Given the description of an element on the screen output the (x, y) to click on. 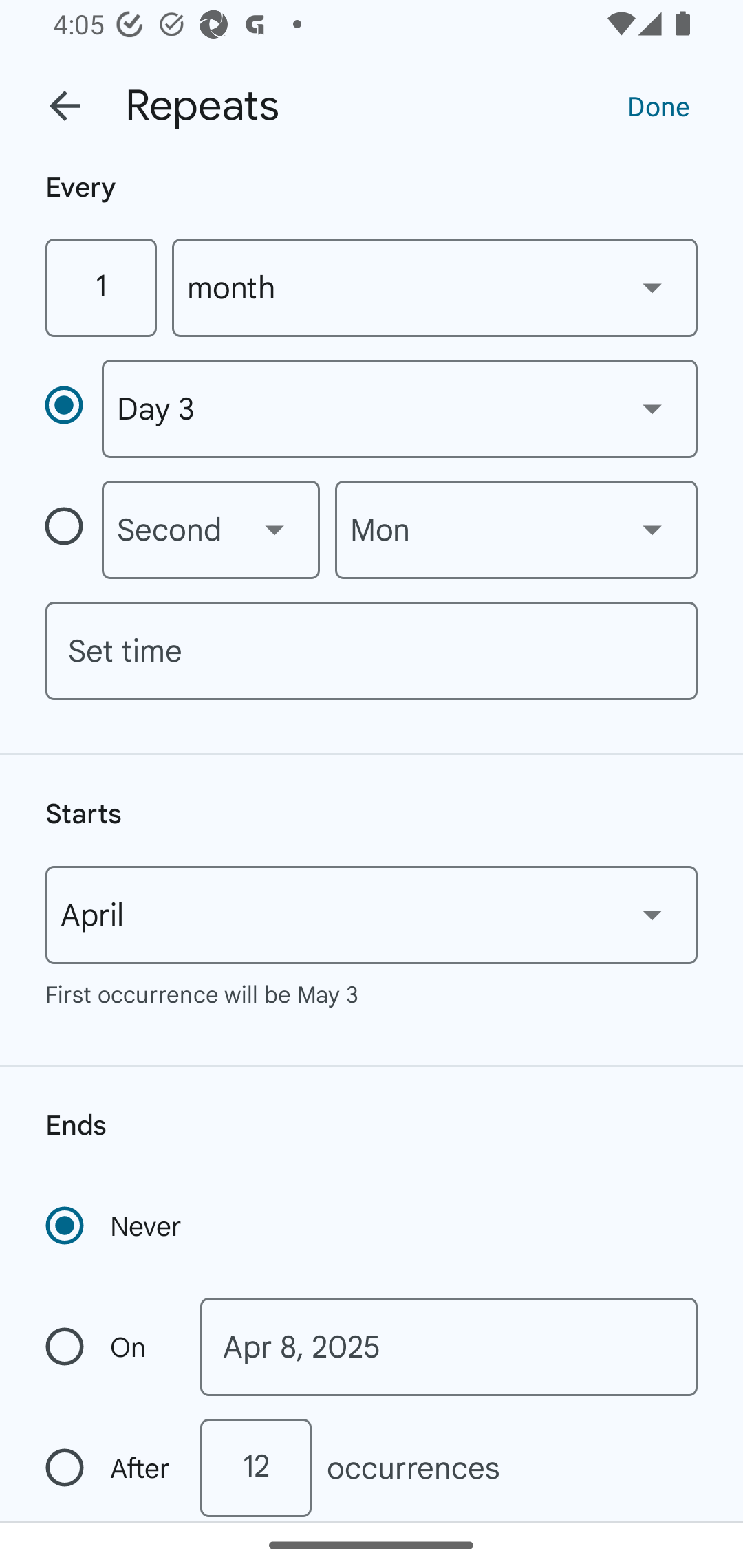
Back (64, 105)
Done (658, 105)
1 (100, 287)
month (434, 287)
Show dropdown menu (652, 286)
Day 3 (399, 408)
Show dropdown menu (652, 408)
Repeat monthly on a specific day of the month (73, 408)
Second (210, 529)
Mon (516, 529)
Show dropdown menu (274, 529)
Show dropdown menu (652, 529)
Repeat monthly on a specific weekday (73, 529)
Set time (371, 650)
April (371, 914)
Show dropdown menu (652, 913)
Never Recurrence never ends (115, 1225)
Apr 8, 2025 (448, 1346)
On Recurrence ends on a specific date (109, 1346)
12 (255, 1468)
